Given the description of an element on the screen output the (x, y) to click on. 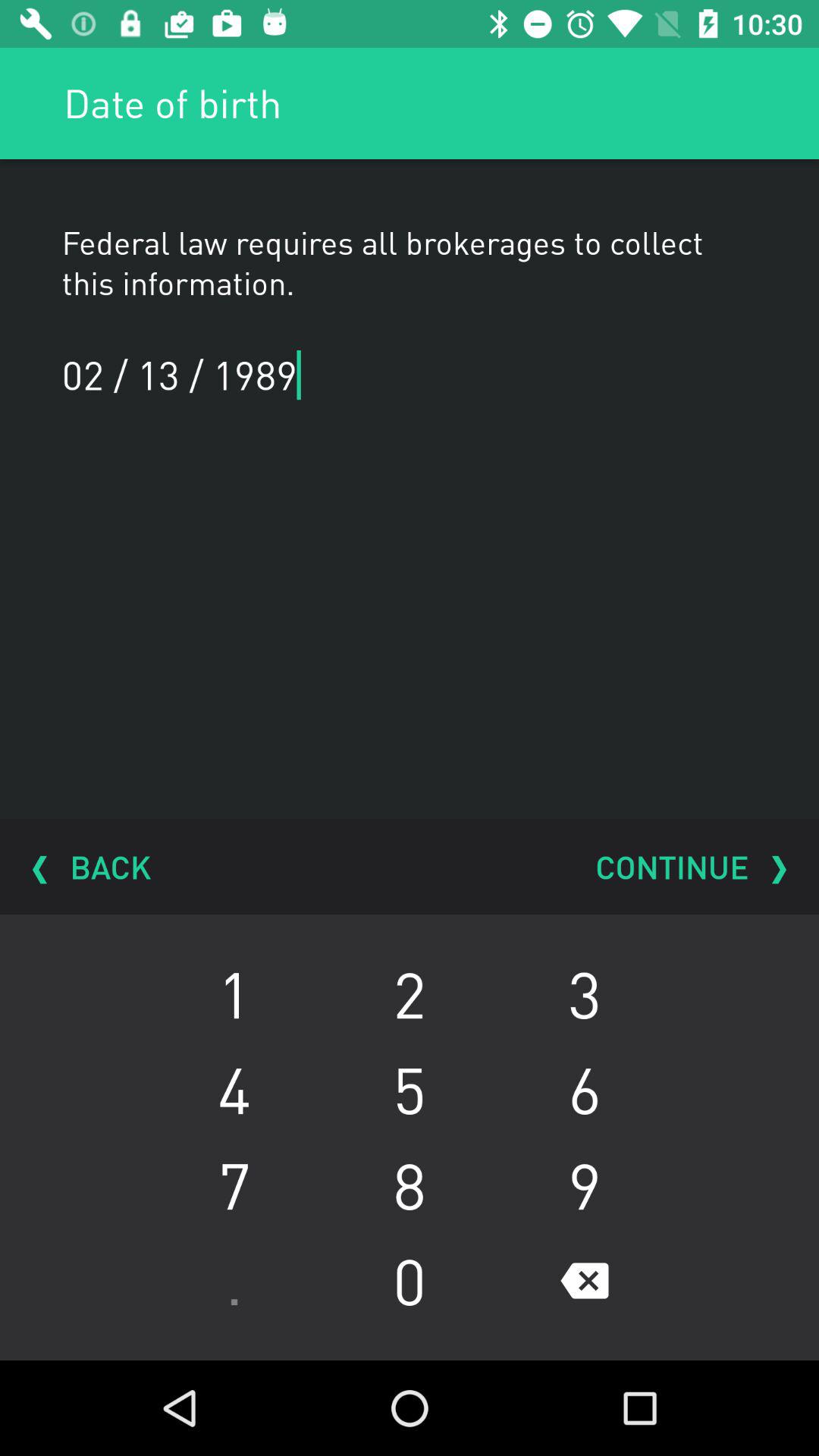
flip to 02 / 13 / 1989 item (196, 374)
